Given the description of an element on the screen output the (x, y) to click on. 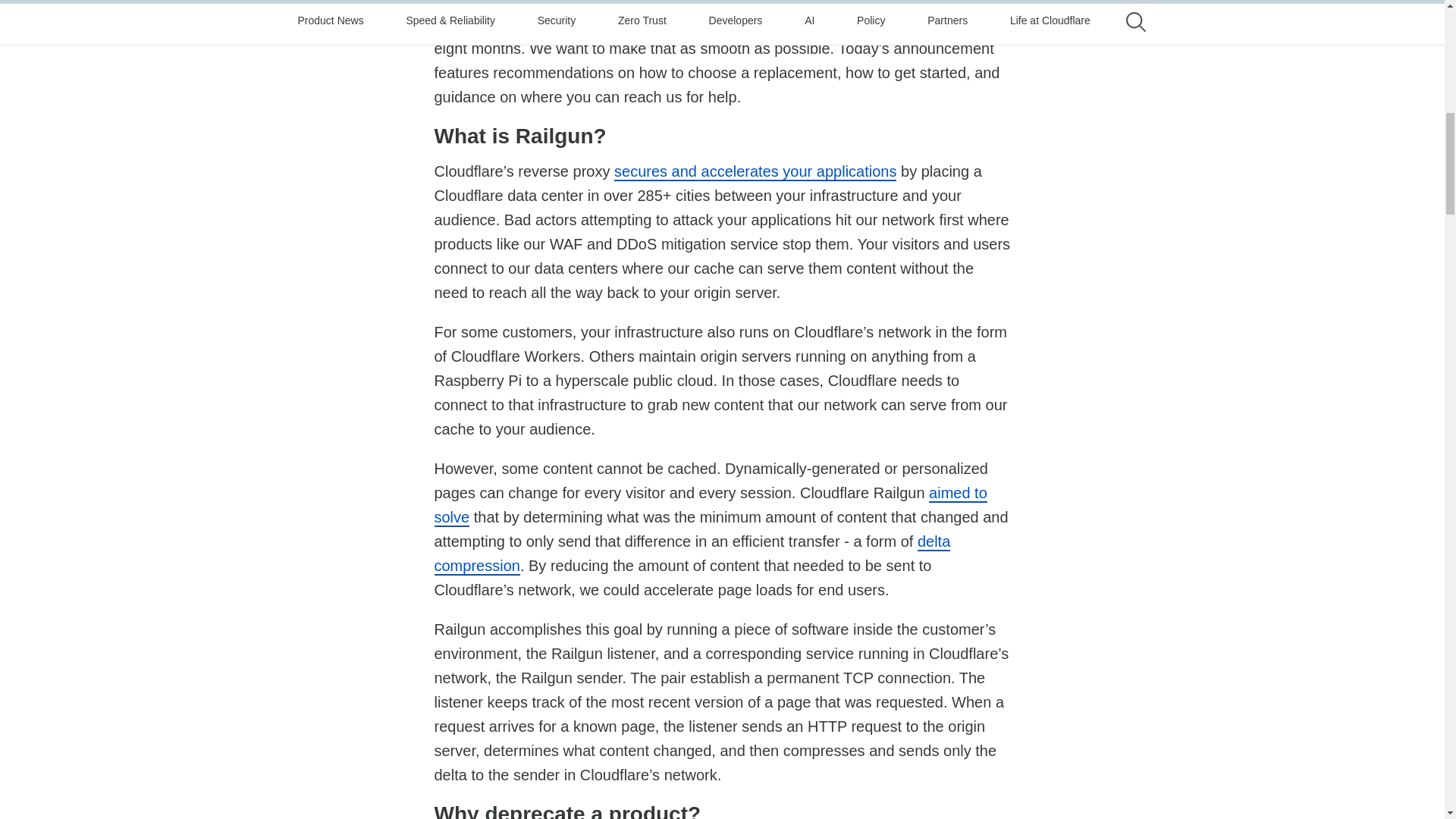
secures and accelerates your applications (755, 171)
delta compression (691, 554)
aimed to solve (710, 505)
